Given the description of an element on the screen output the (x, y) to click on. 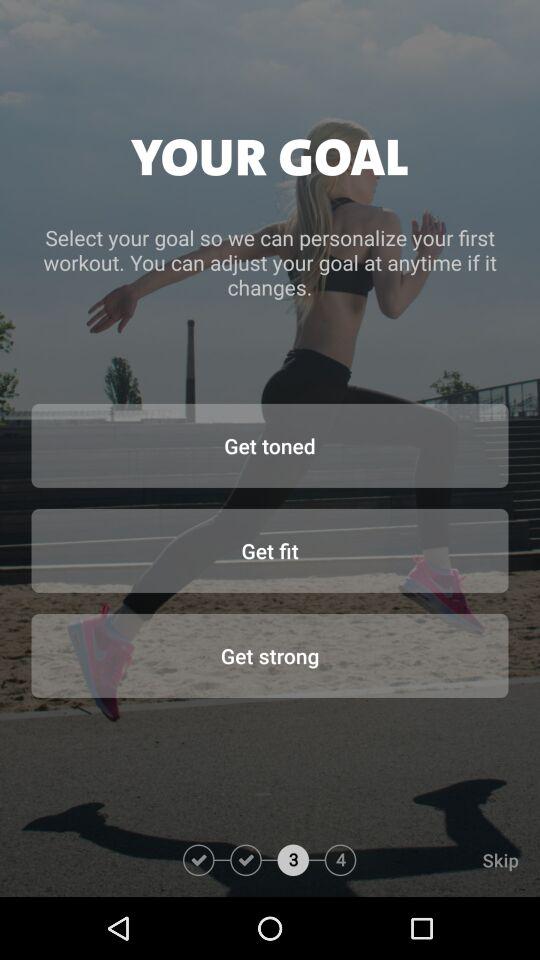
swipe until the get fit icon (269, 550)
